Given the description of an element on the screen output the (x, y) to click on. 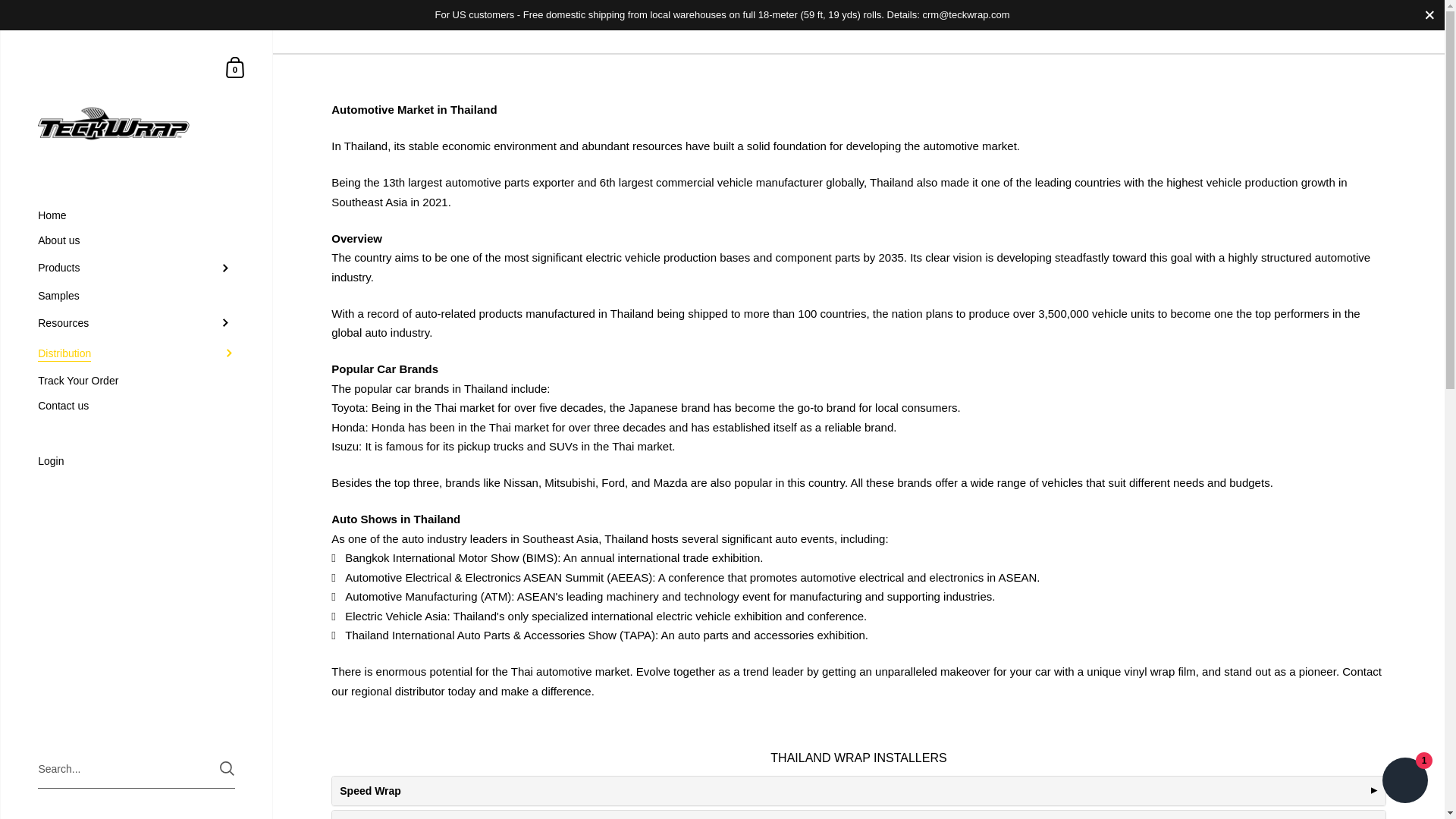
Samples (136, 295)
Shopping Cart (235, 66)
Resources (136, 322)
Distribution (136, 353)
Shopify online store chat (1404, 781)
About us (136, 240)
Products (136, 268)
Home (136, 215)
